Given the description of an element on the screen output the (x, y) to click on. 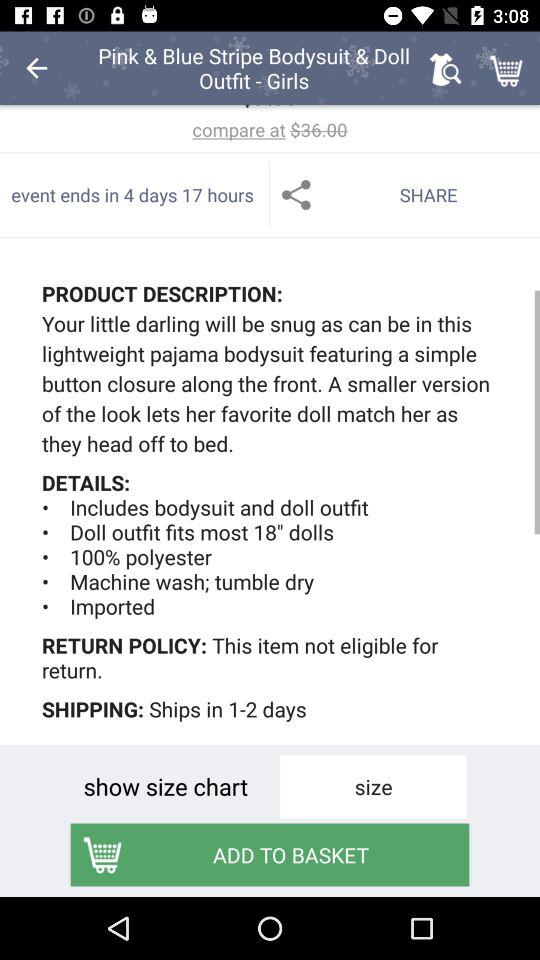
select the item to the left of the pink blue stripe (36, 68)
